Given the description of an element on the screen output the (x, y) to click on. 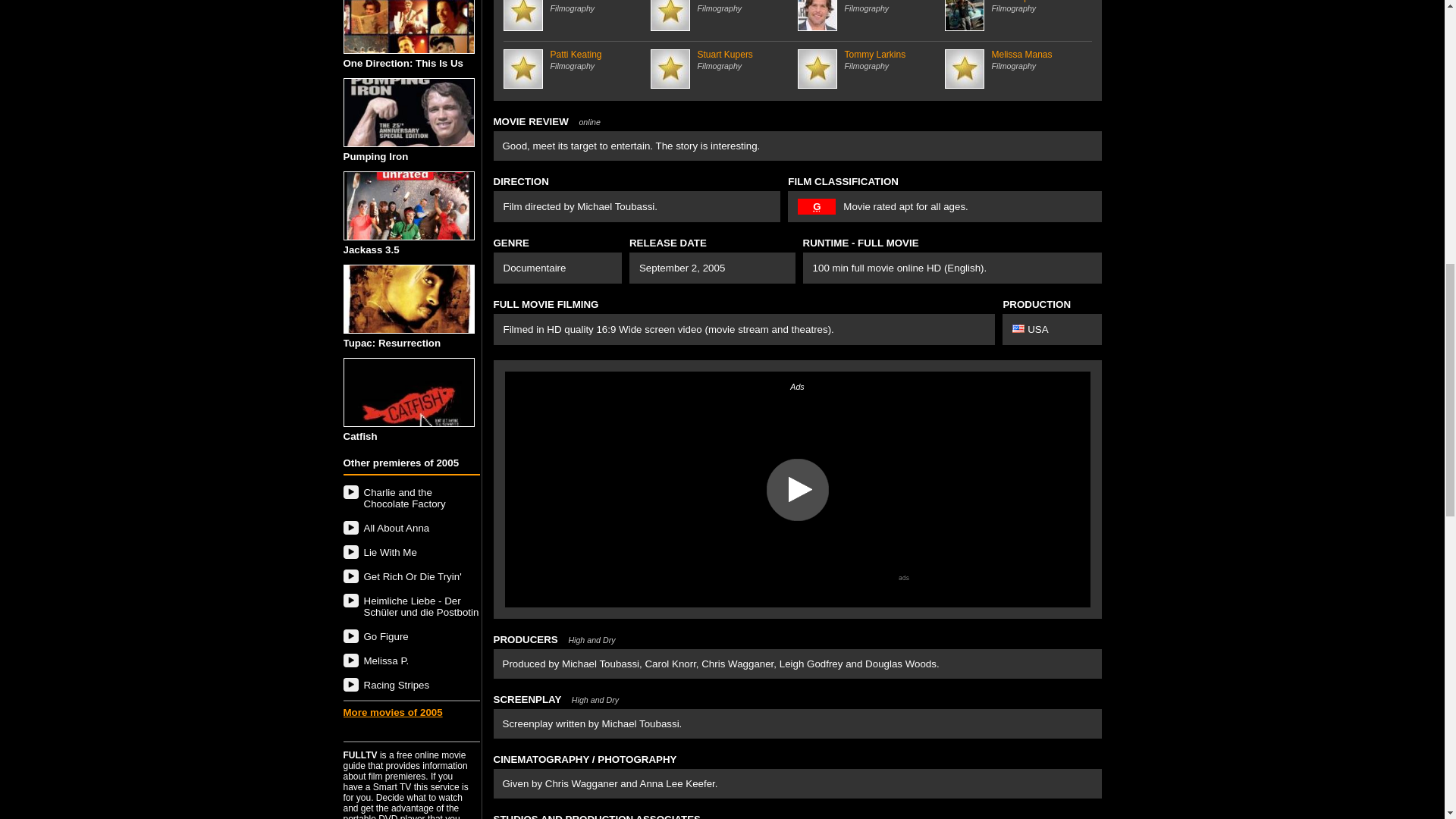
Lie With Me (410, 552)
Tupac: Resurrection, movie (408, 298)
One Direction: This Is Us, movie (408, 26)
Catfish (410, 399)
Go Figure, online movie (410, 636)
Charlie and the Chocolate Factory, online movie (410, 498)
One Direction: This Is Us (410, 33)
Get Rich Or Die Tryin' (410, 576)
Get Rich Or Die Tryin', online movie (410, 576)
Pumping Iron, movie (408, 112)
Catfish, movie (408, 391)
Tupac: Resurrection (410, 306)
Jackass 3.5, movie (408, 205)
All About Anna, online movie (410, 527)
Lie With Me, online movie (410, 552)
